Given the description of an element on the screen output the (x, y) to click on. 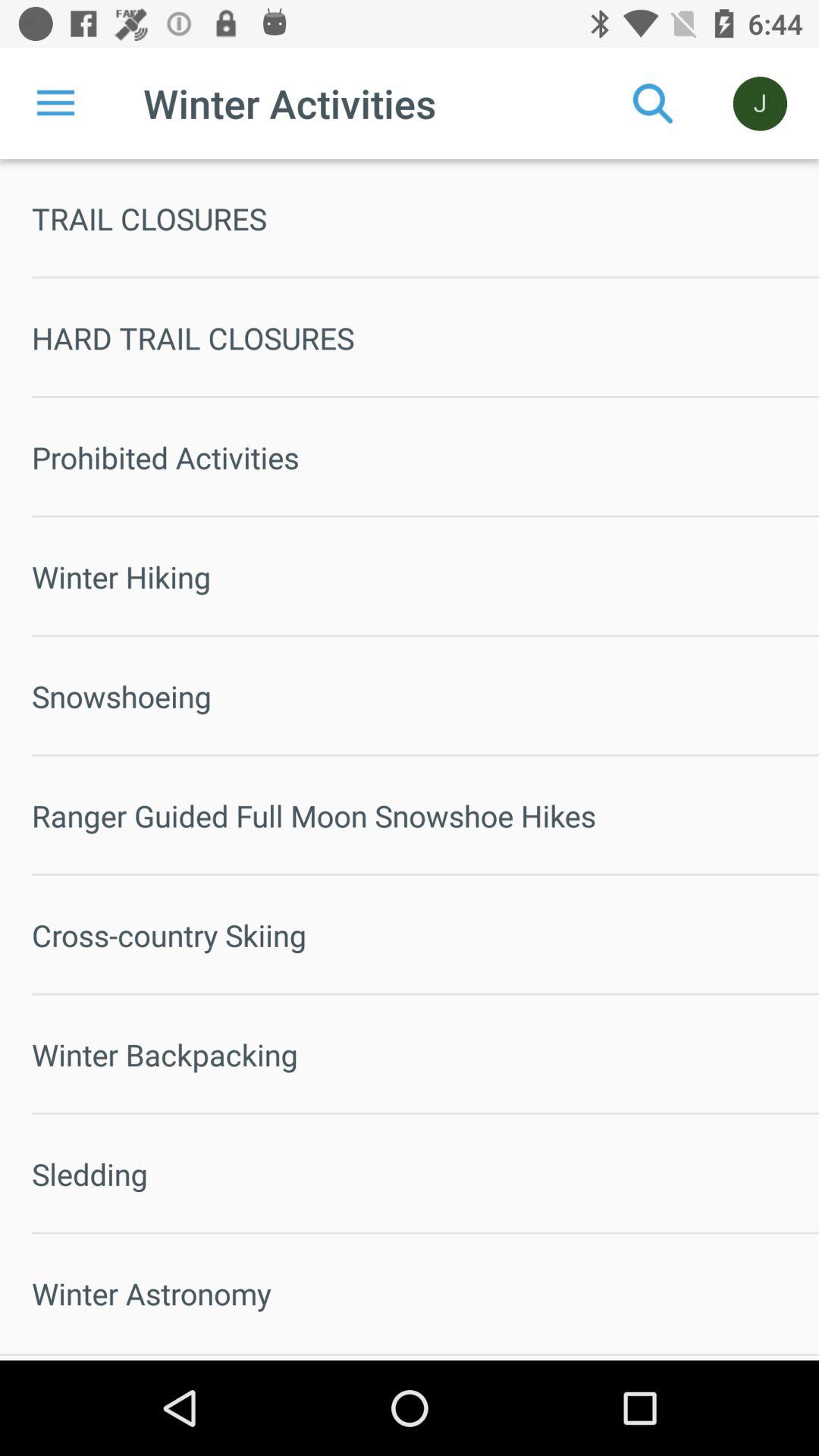
open the icon above trail closures icon (760, 103)
